Given the description of an element on the screen output the (x, y) to click on. 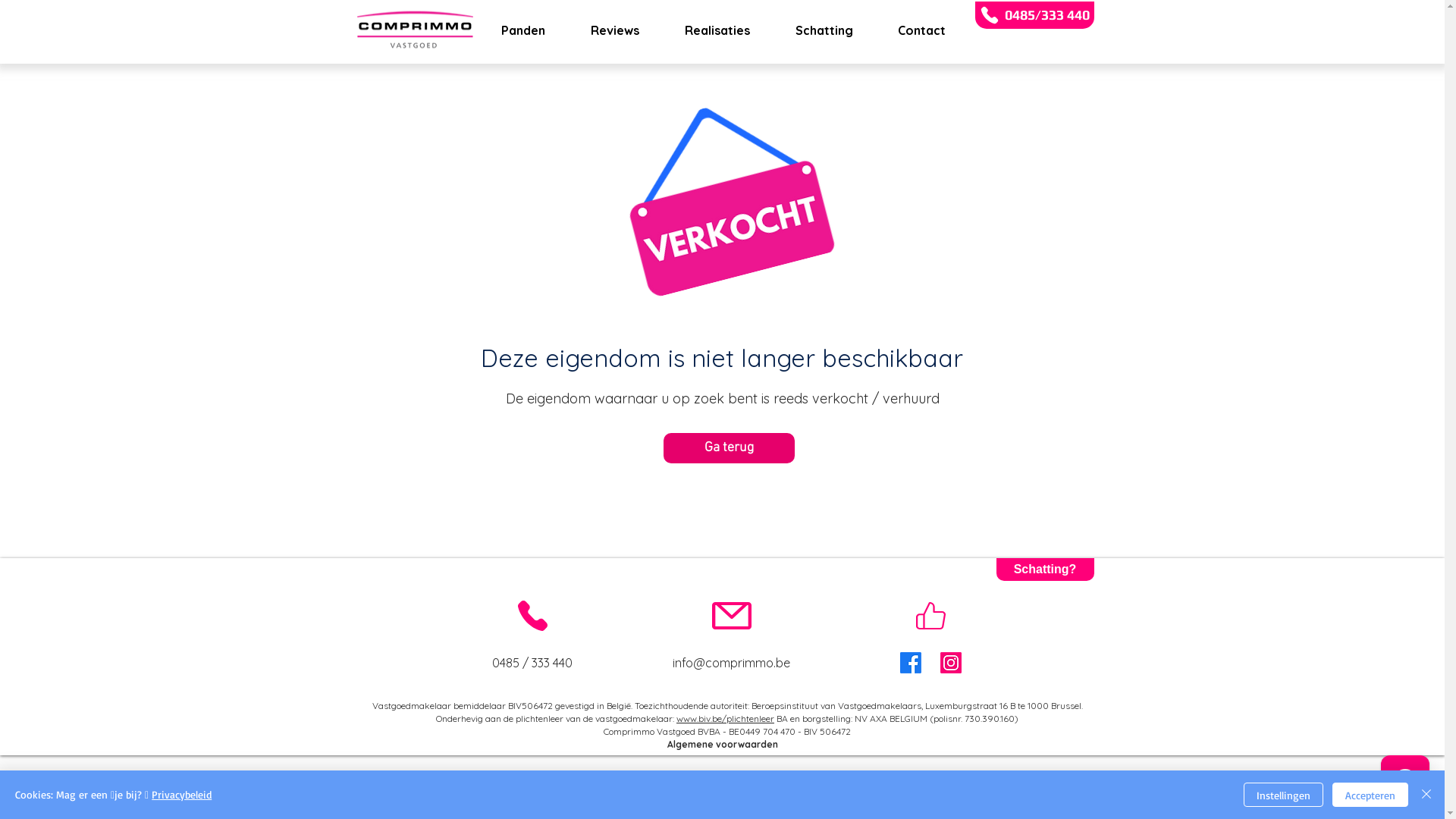
0485/333 440 Element type: text (1034, 14)
Instellingen Element type: text (1283, 794)
www.biv.be/plichtenleer Element type: text (725, 718)
info@comprimmo.be Element type: text (731, 662)
Realisaties Element type: text (716, 29)
Reviews Element type: text (614, 29)
Contact Element type: text (921, 29)
Schatting? Element type: text (1045, 569)
Panden Element type: text (523, 29)
Privacybeleid Element type: text (181, 793)
Algemene voorwaarden Element type: text (722, 743)
Schatting Element type: text (822, 29)
Accepteren Element type: text (1370, 794)
0485 / 333 440 Element type: text (532, 662)
Ga terug Element type: text (727, 448)
